Given the description of an element on the screen output the (x, y) to click on. 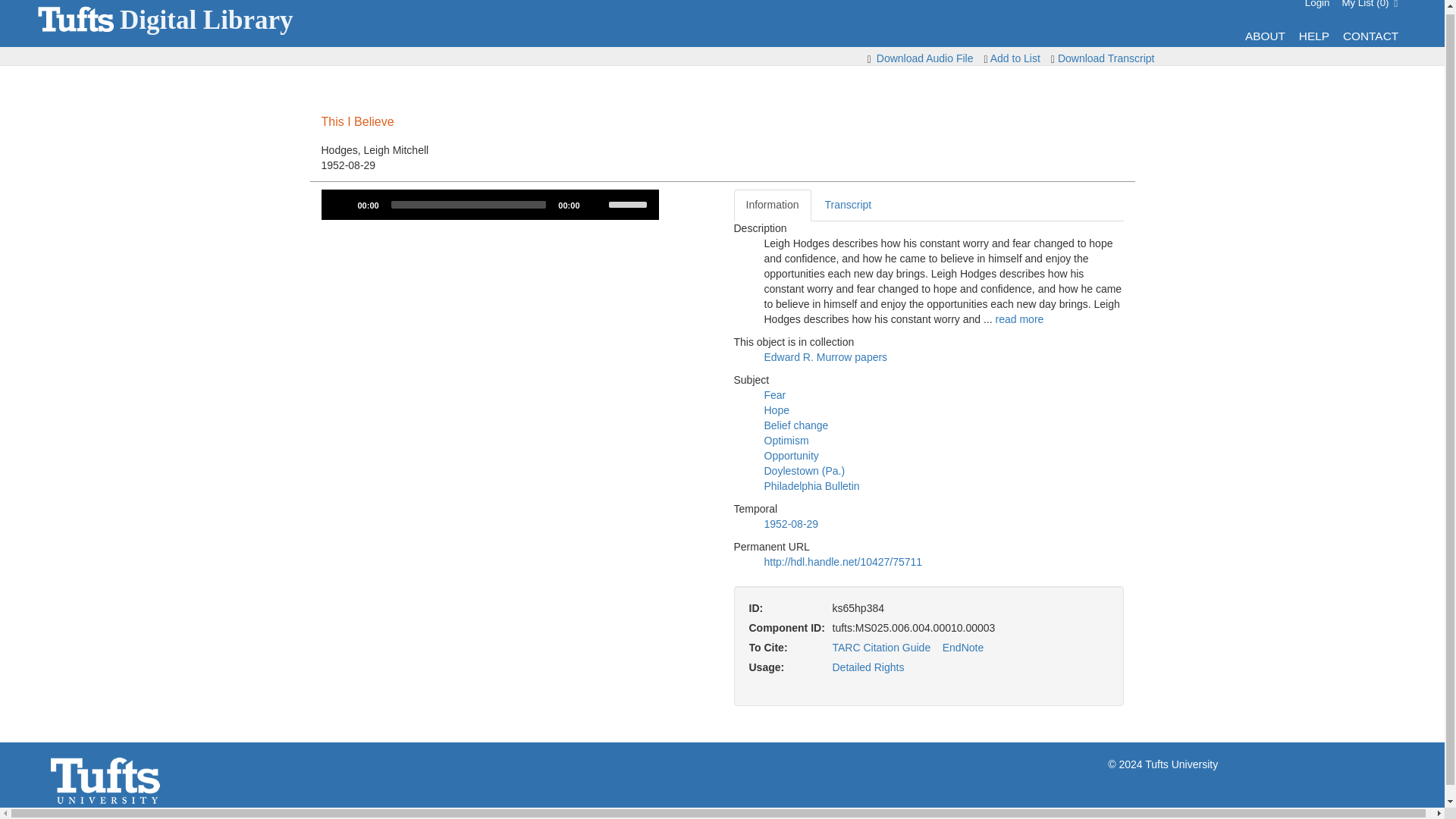
Download Audio File (925, 58)
EndNote (963, 647)
Login (1317, 4)
Transcript (847, 205)
Hope (776, 410)
Play (341, 204)
Download Transcript (1106, 58)
1952-08-29 (791, 523)
Detailed Rights (868, 666)
TARC Citation Guide (881, 647)
Philadelphia Bulletin (812, 485)
HELP (1313, 35)
read more (1019, 318)
Edward R. Murrow papers (826, 357)
Fear (775, 395)
